Given the description of an element on the screen output the (x, y) to click on. 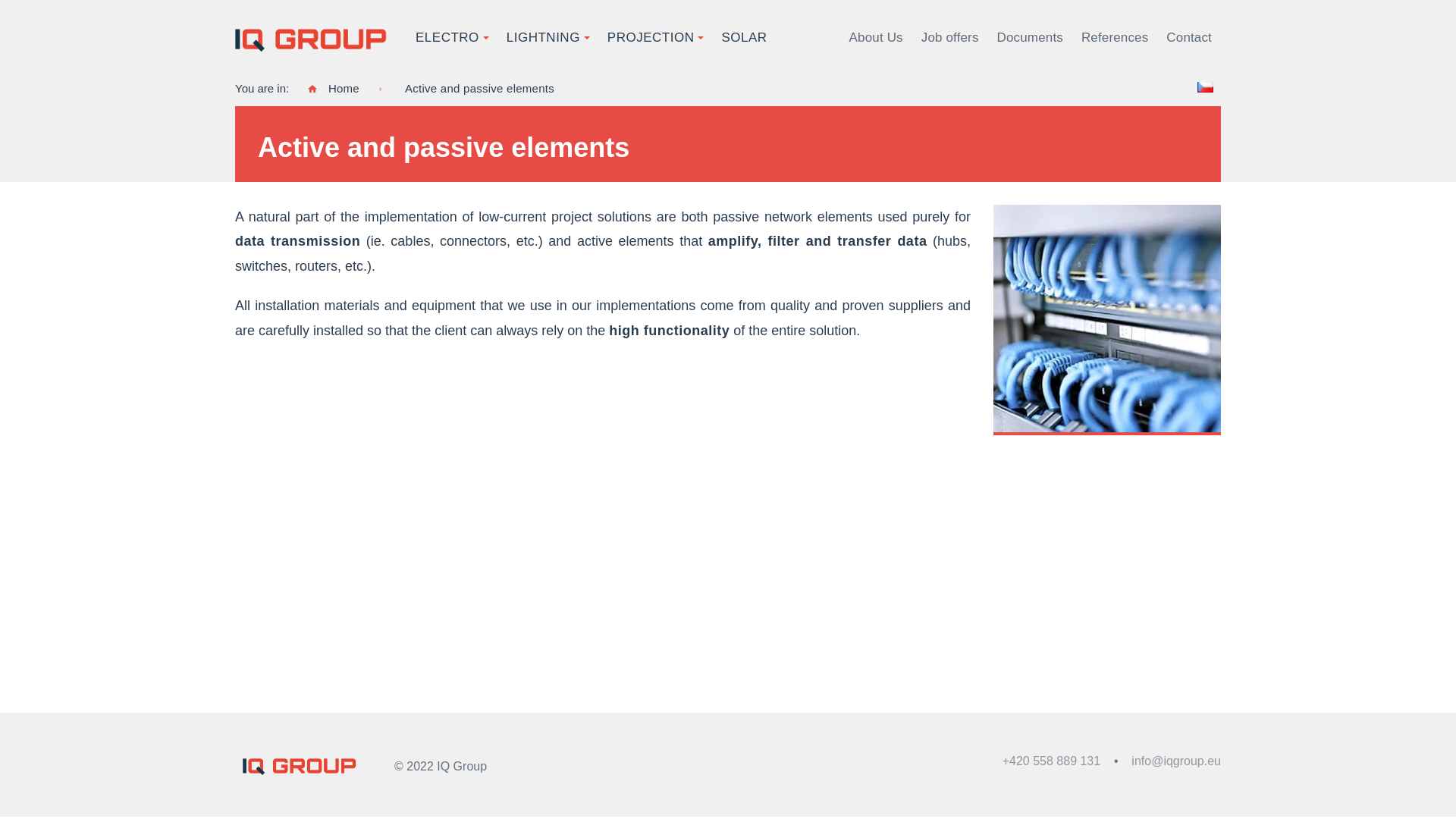
LIGHTNING (543, 38)
Active and passive elements (479, 88)
ELECTRO (447, 38)
Job offers (950, 38)
References (1114, 38)
PROJECTION (650, 38)
SOLAR (743, 38)
Home (333, 88)
Documents (1029, 38)
About Us (876, 38)
